Given the description of an element on the screen output the (x, y) to click on. 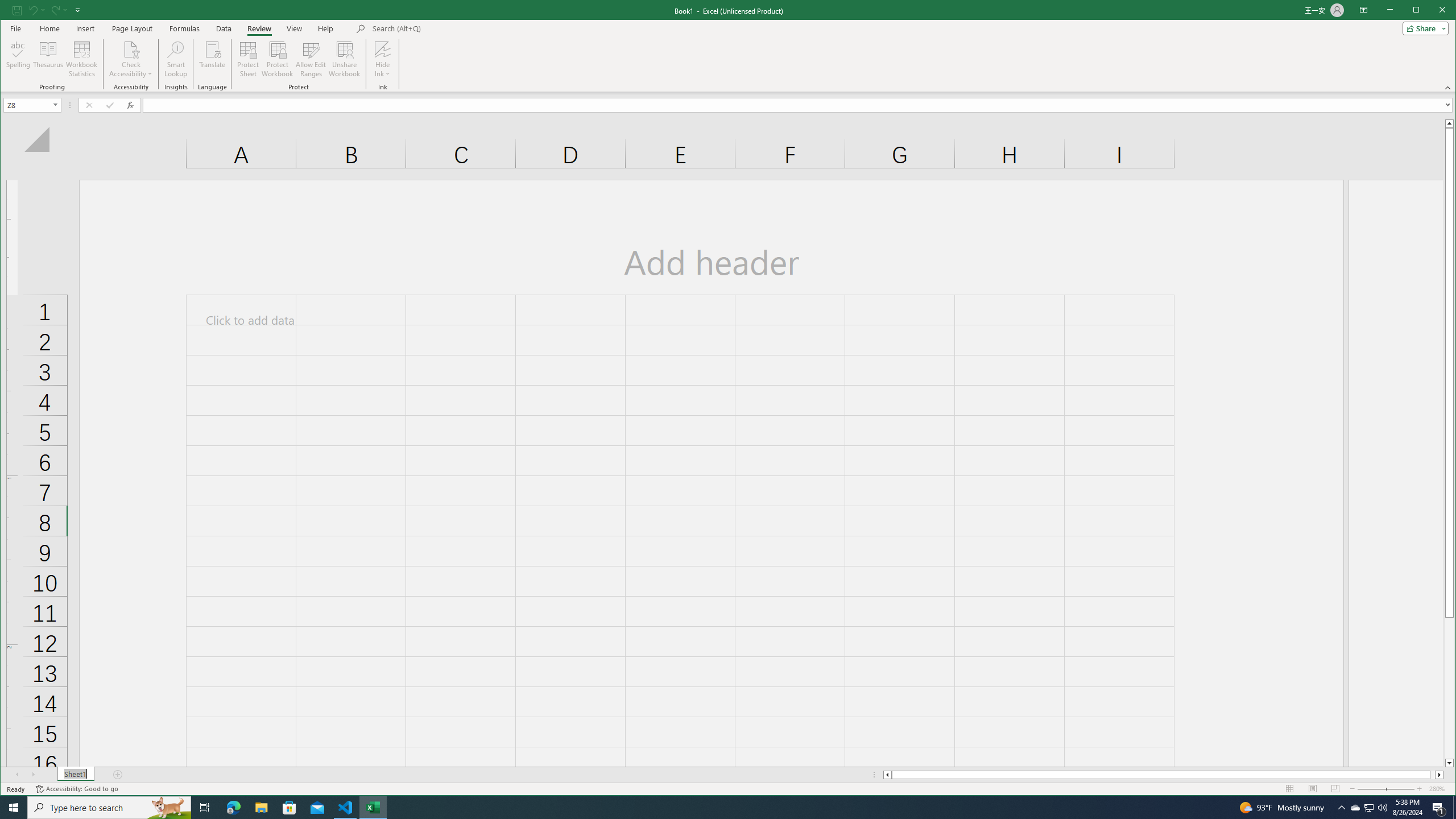
Smart Lookup (176, 59)
Q2790: 100% (1382, 807)
Microsoft Store (289, 807)
Protect Sheet... (247, 59)
Allow Edit Ranges (310, 59)
